Given the description of an element on the screen output the (x, y) to click on. 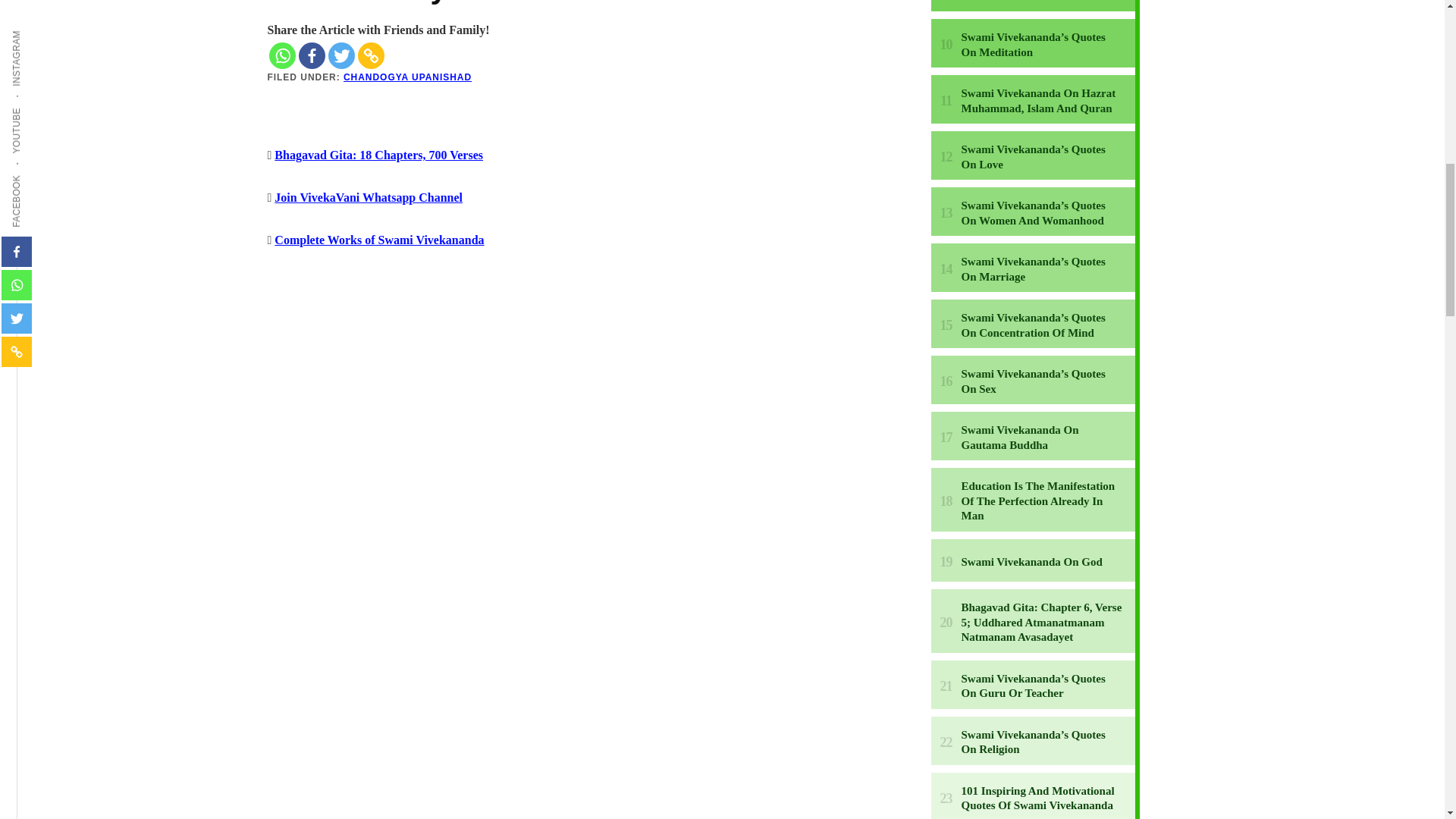
Facebook (311, 55)
Twitter (340, 55)
Copy Link (371, 55)
Whatsapp (281, 55)
